Given the description of an element on the screen output the (x, y) to click on. 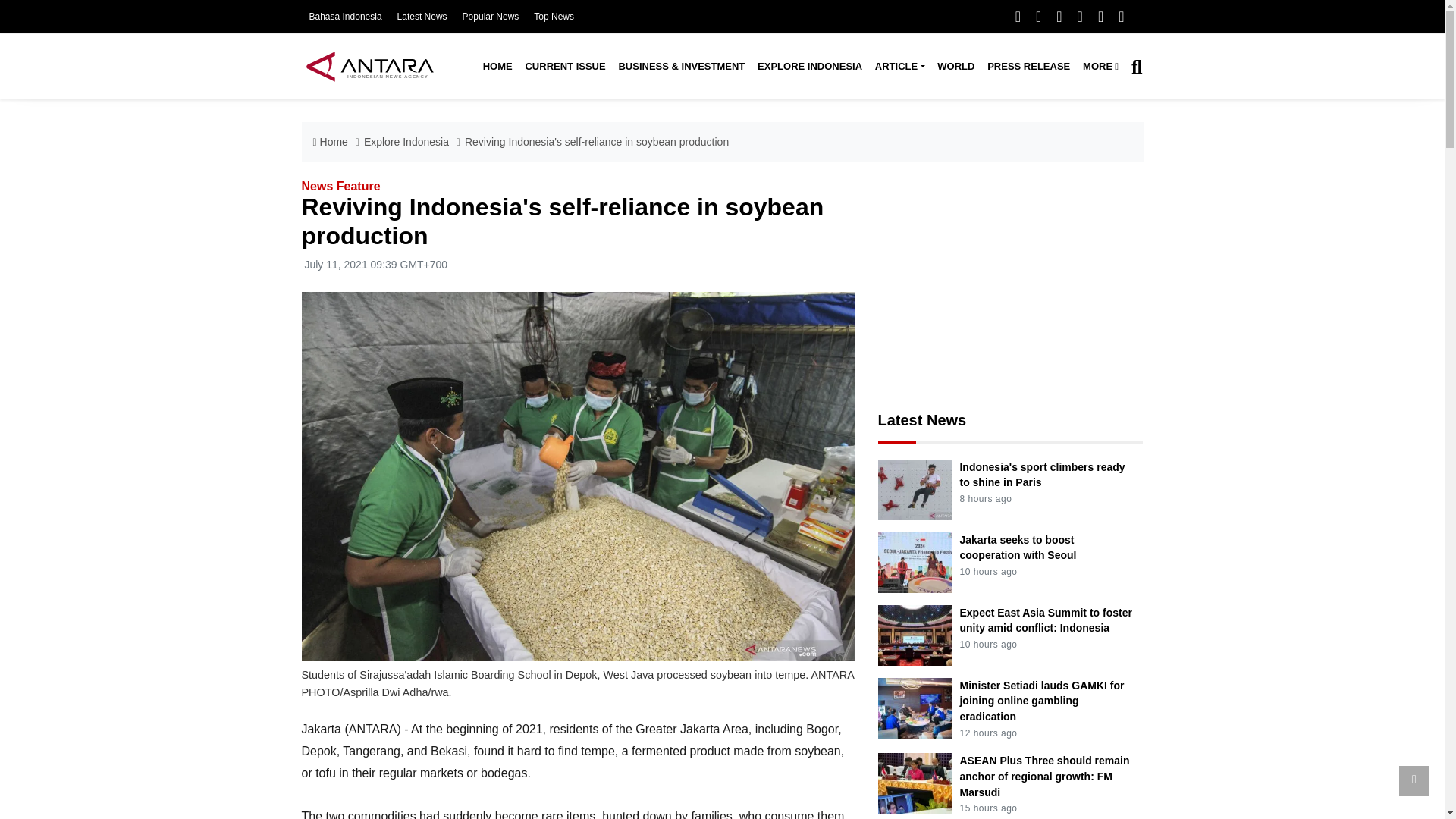
Latest News (421, 16)
Latest News (421, 16)
Article (898, 66)
ANTARA News (369, 66)
Explore Indonesia (810, 66)
Bahasa Indonesia (344, 16)
Bahasa Indonesia (344, 16)
Top News (553, 16)
EXPLORE INDONESIA (810, 66)
Popular News (491, 16)
Current Issue (564, 66)
Popular News (491, 16)
Top News (553, 16)
CURRENT ISSUE (564, 66)
